Given the description of an element on the screen output the (x, y) to click on. 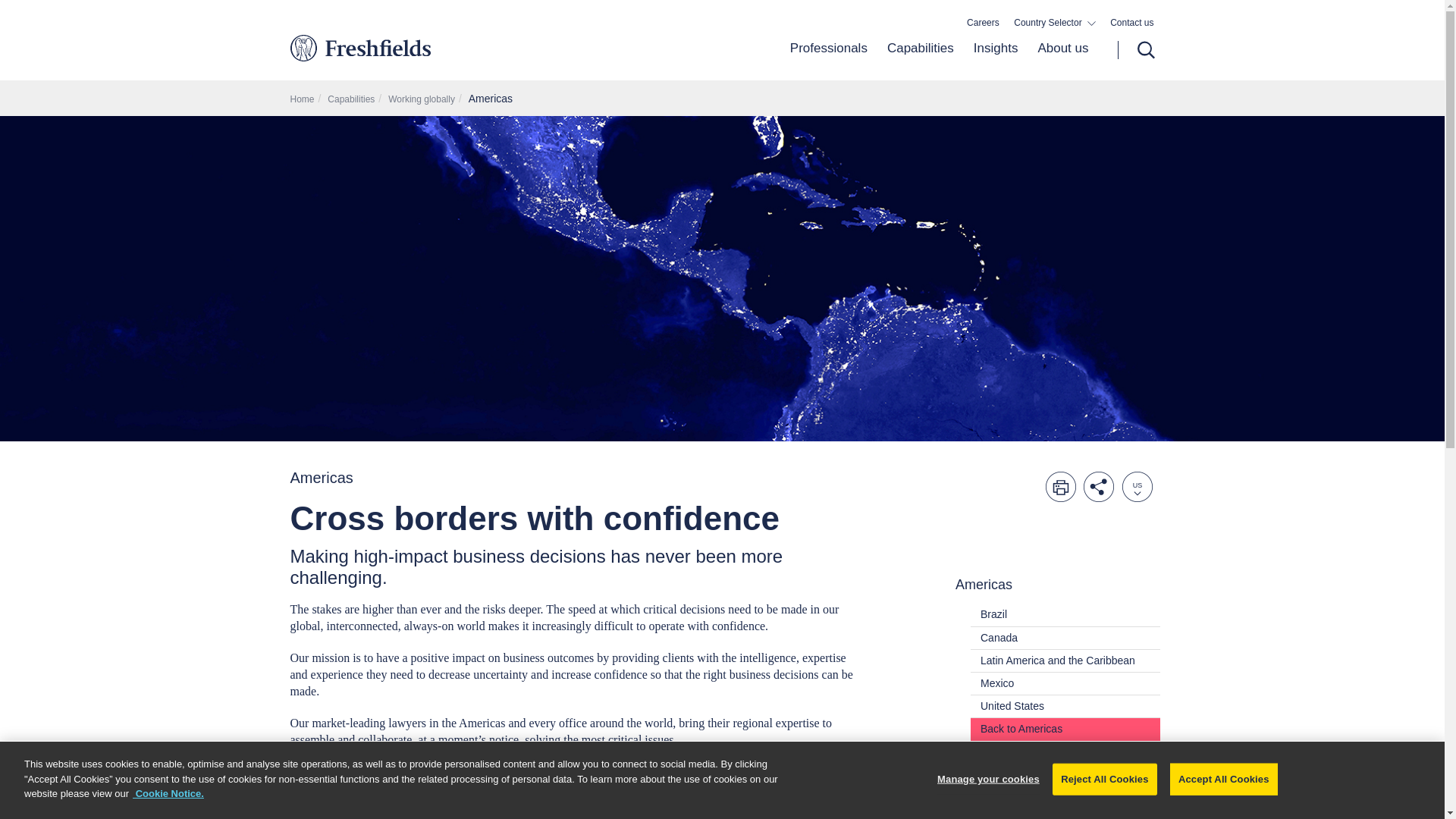
About us (1057, 59)
Country Selector (1053, 22)
Professionals (828, 59)
Insights (995, 59)
Search (1136, 49)
Capabilities (920, 59)
Careers (982, 22)
Freshfields Bruckhaus Deringer (423, 46)
Careers (982, 22)
Contact us (1131, 22)
